Given the description of an element on the screen output the (x, y) to click on. 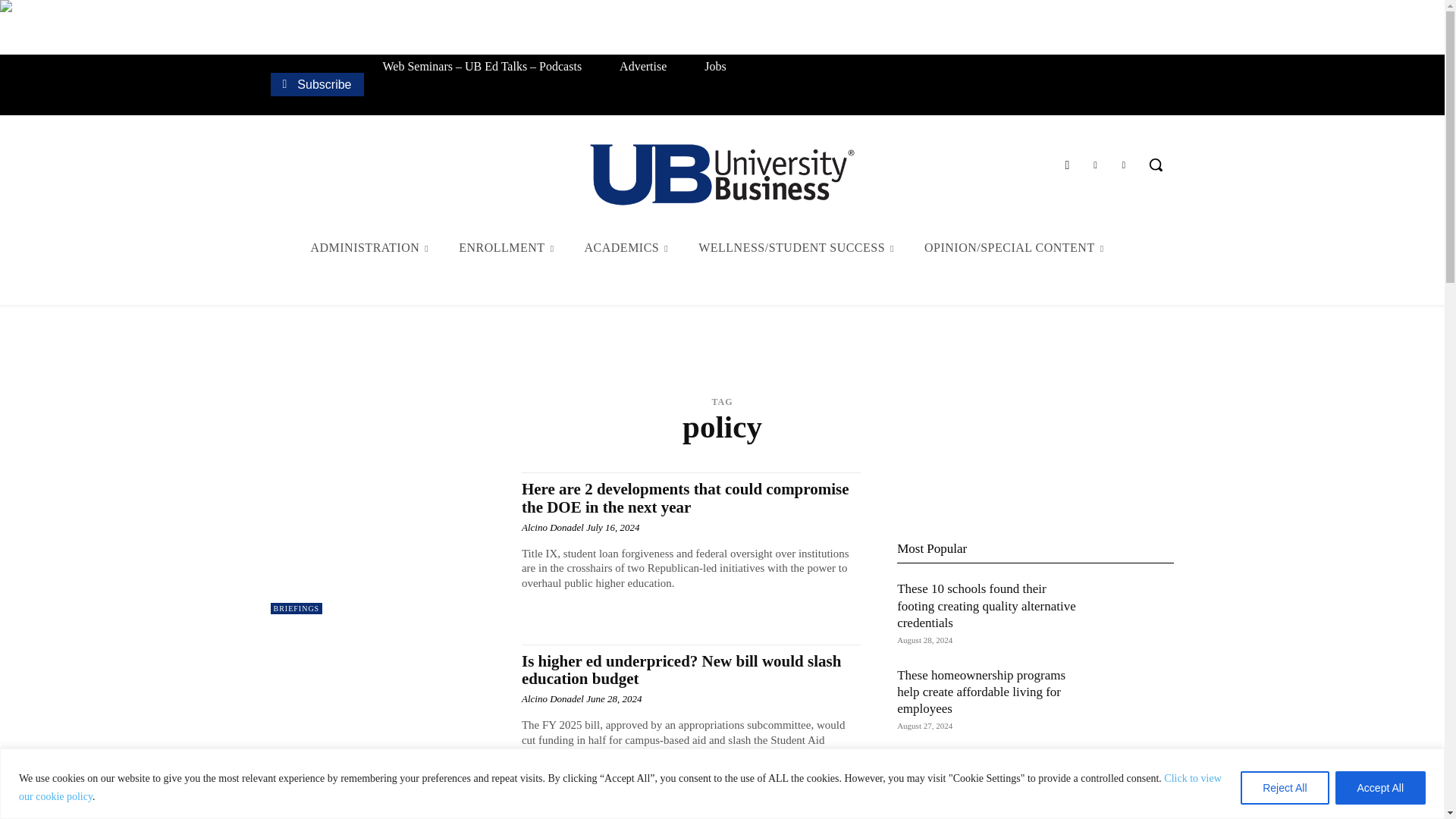
Reject All (1283, 786)
Twitter (1094, 164)
Accept All (1380, 786)
Click to view our cookie policy (619, 786)
Facebook (1067, 164)
